Given the description of an element on the screen output the (x, y) to click on. 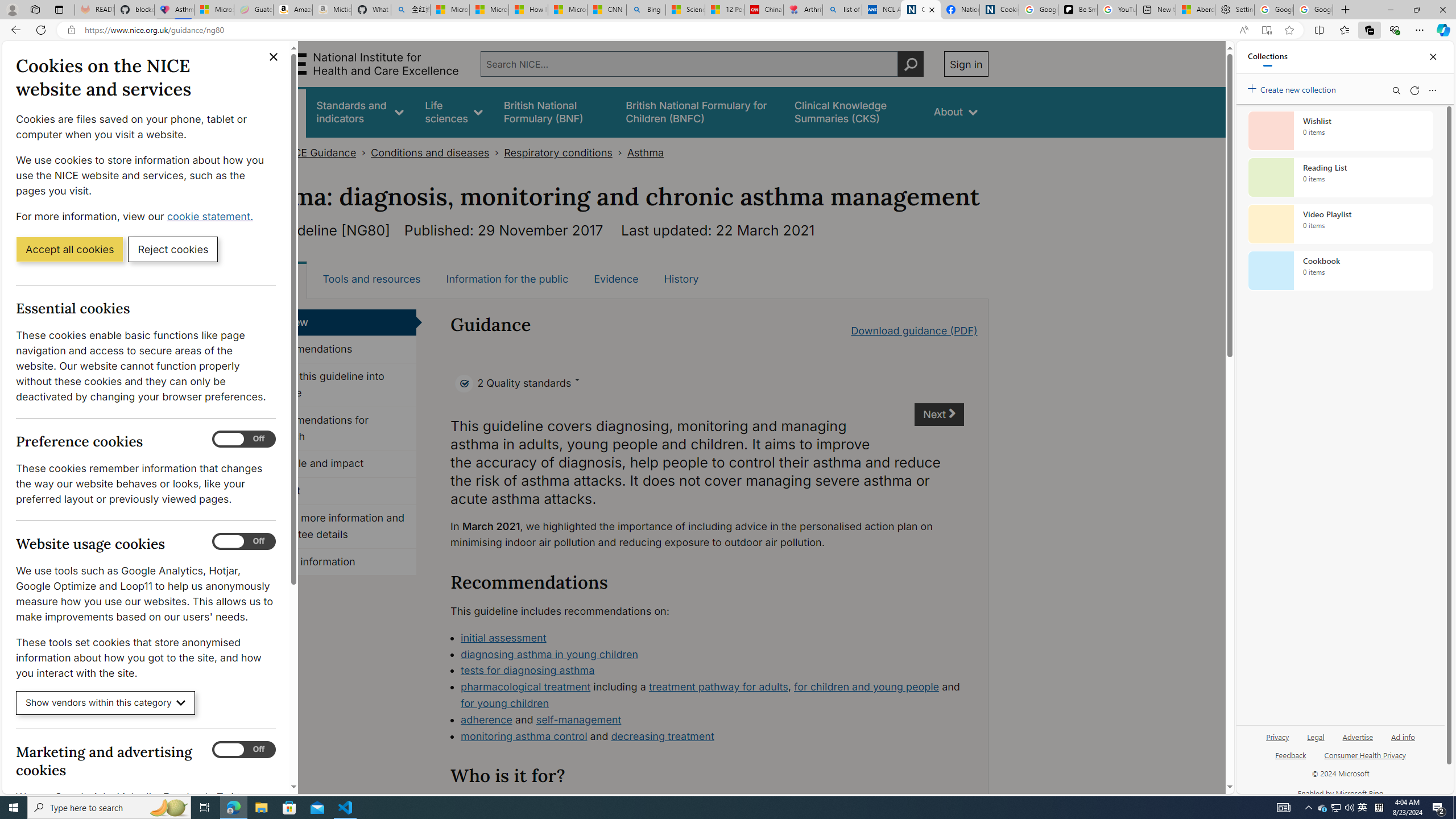
tests for diagnosing asthma (527, 670)
decreasing treatment (662, 735)
Recommendations (333, 349)
CNN - MSN (606, 9)
Finding more information and committee details (333, 526)
Conditions and diseases (430, 152)
initial assessment (711, 638)
Website usage cookies (243, 540)
